Given the description of an element on the screen output the (x, y) to click on. 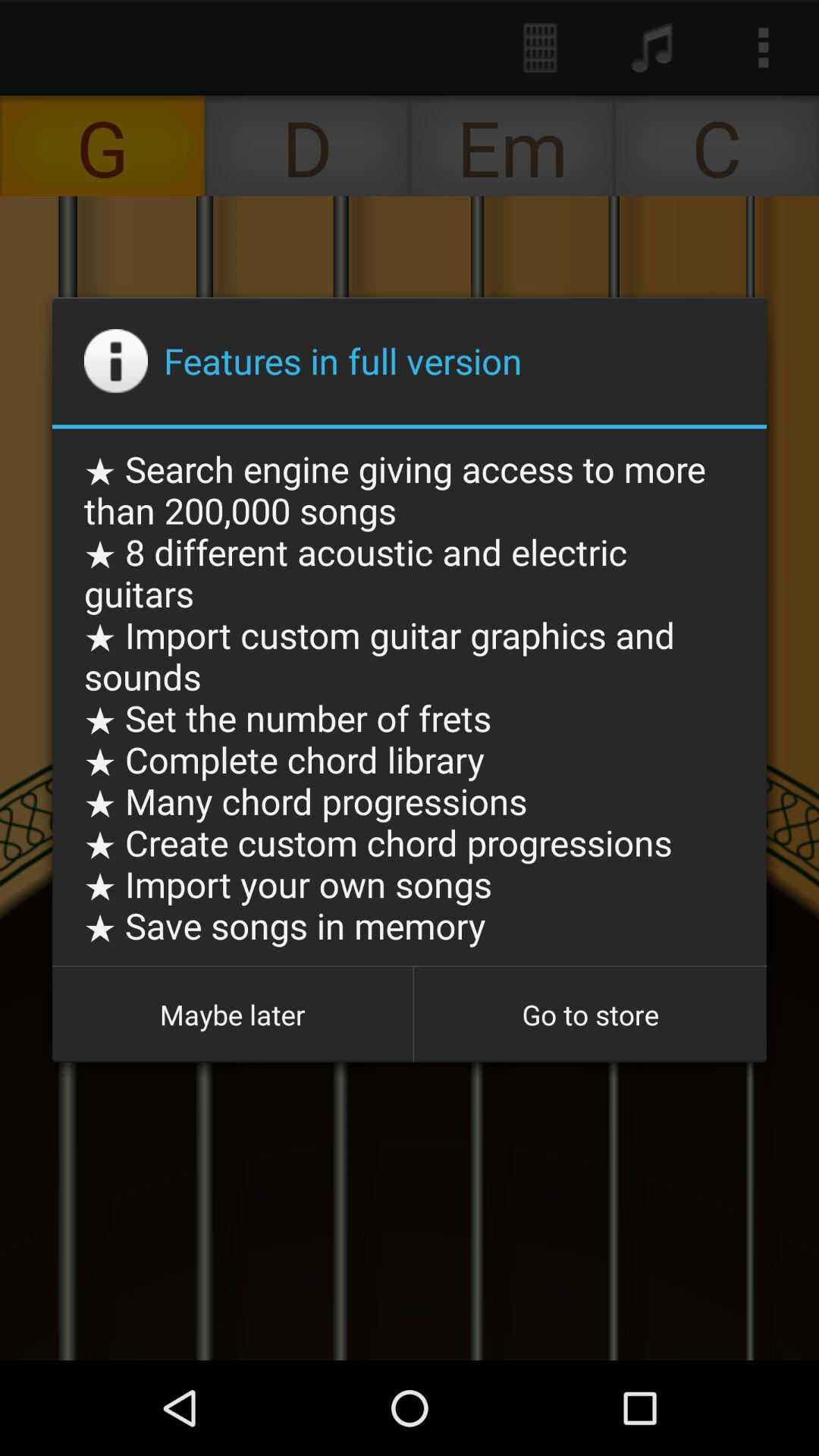
launch button at the bottom right corner (590, 1014)
